Given the description of an element on the screen output the (x, y) to click on. 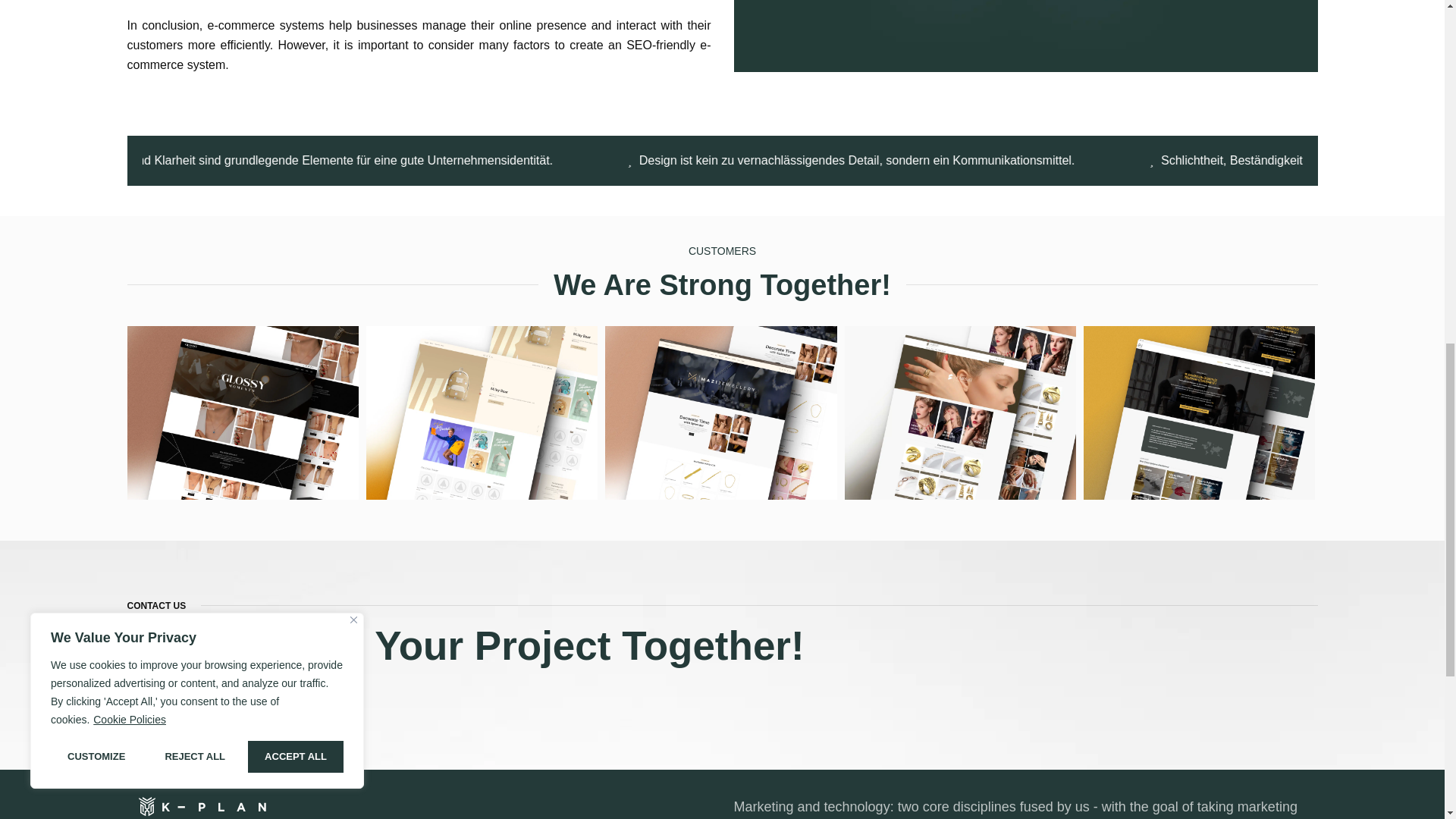
Get a Quote (162, 701)
